Given the description of an element on the screen output the (x, y) to click on. 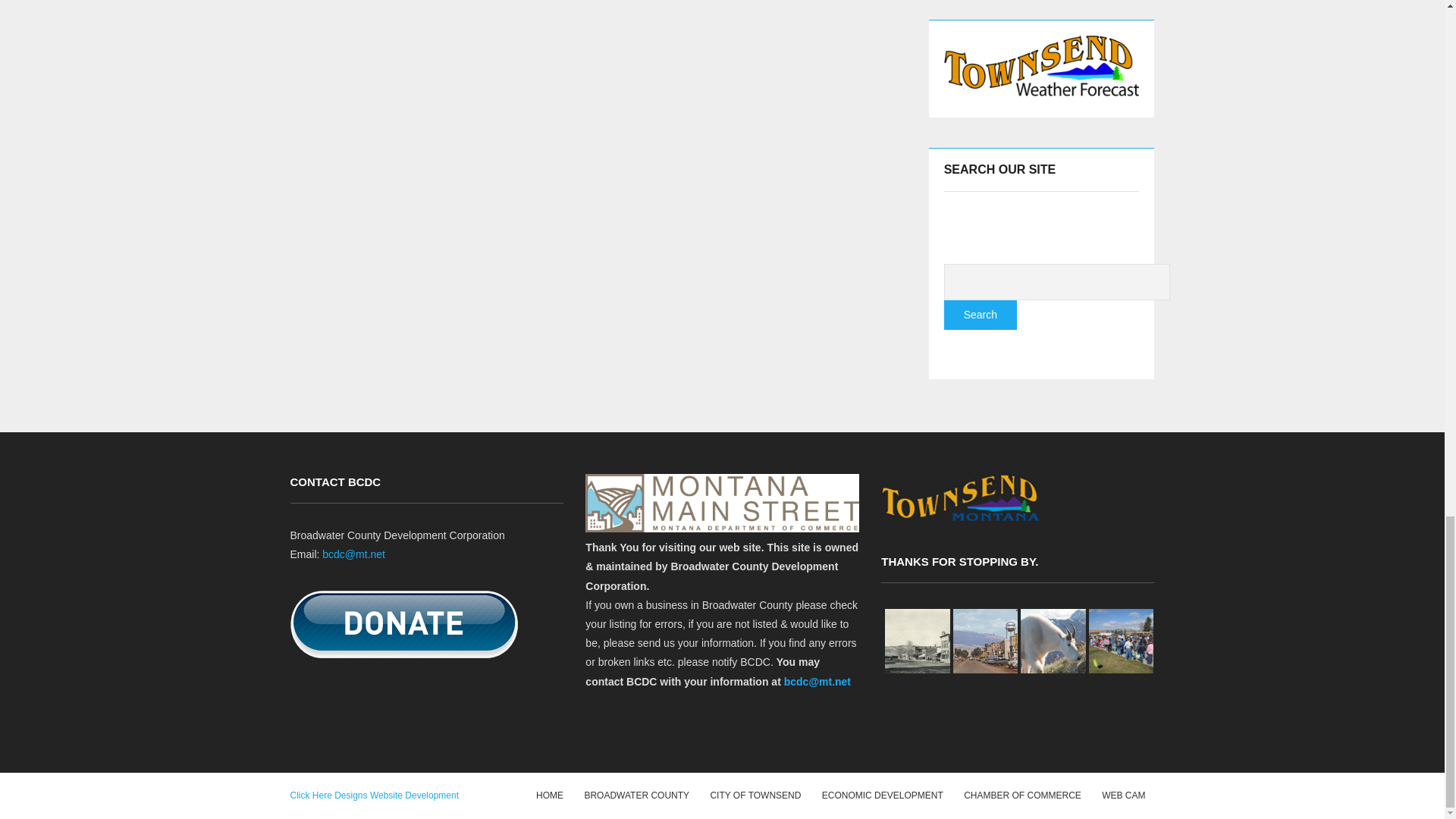
Area Wildlife (1052, 641)
Main Street about 1910 (917, 641)
Summer Events (1121, 641)
Search (979, 315)
PayPal - The safer, easier way to pay online! (402, 624)
townsend mt pc 1960 (985, 641)
